Given the description of an element on the screen output the (x, y) to click on. 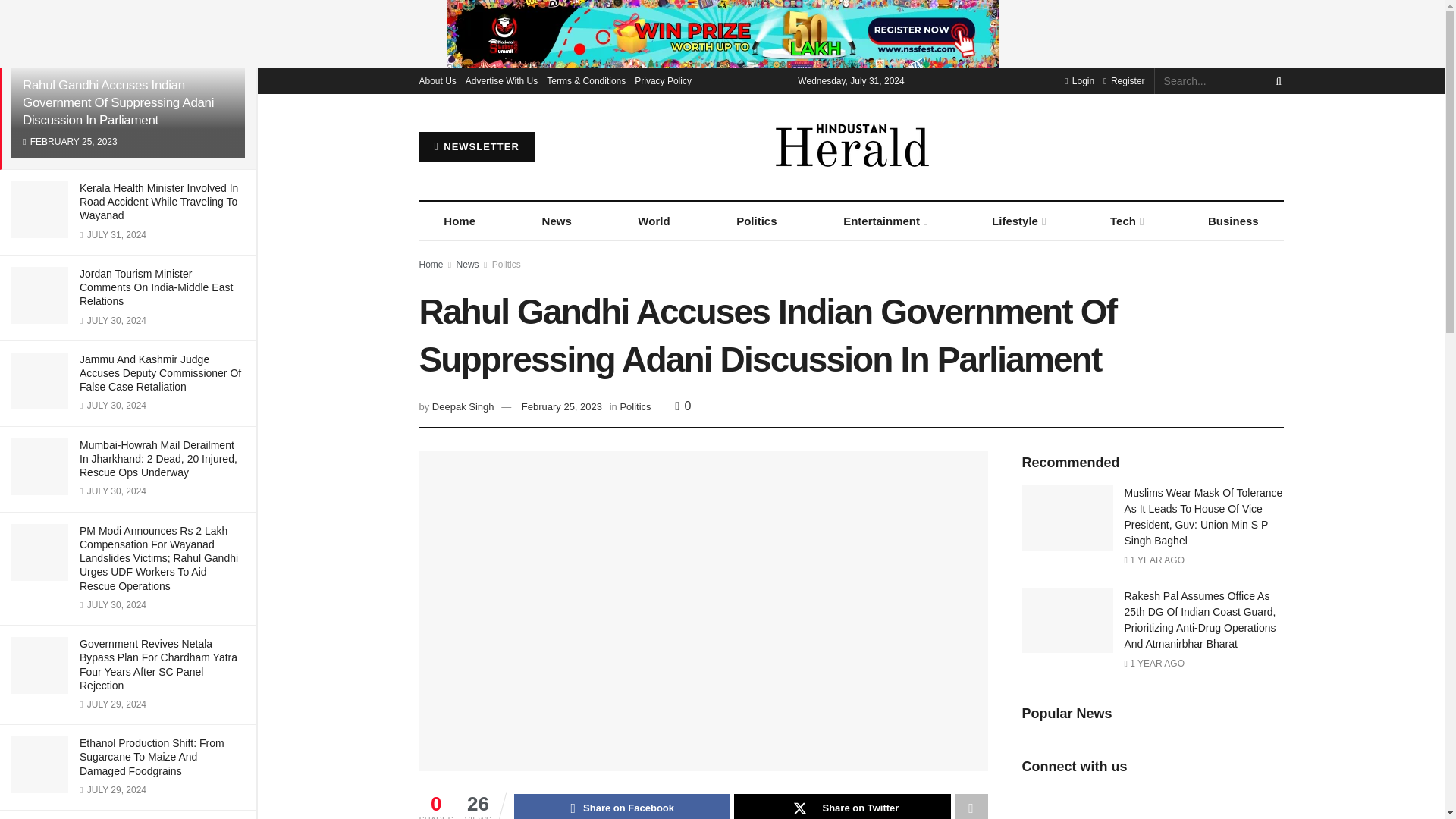
Login (1079, 80)
Register (1123, 80)
Advertise With Us (501, 80)
About Us (437, 80)
NEWSLETTER (476, 146)
Privacy Policy (662, 80)
